Given the description of an element on the screen output the (x, y) to click on. 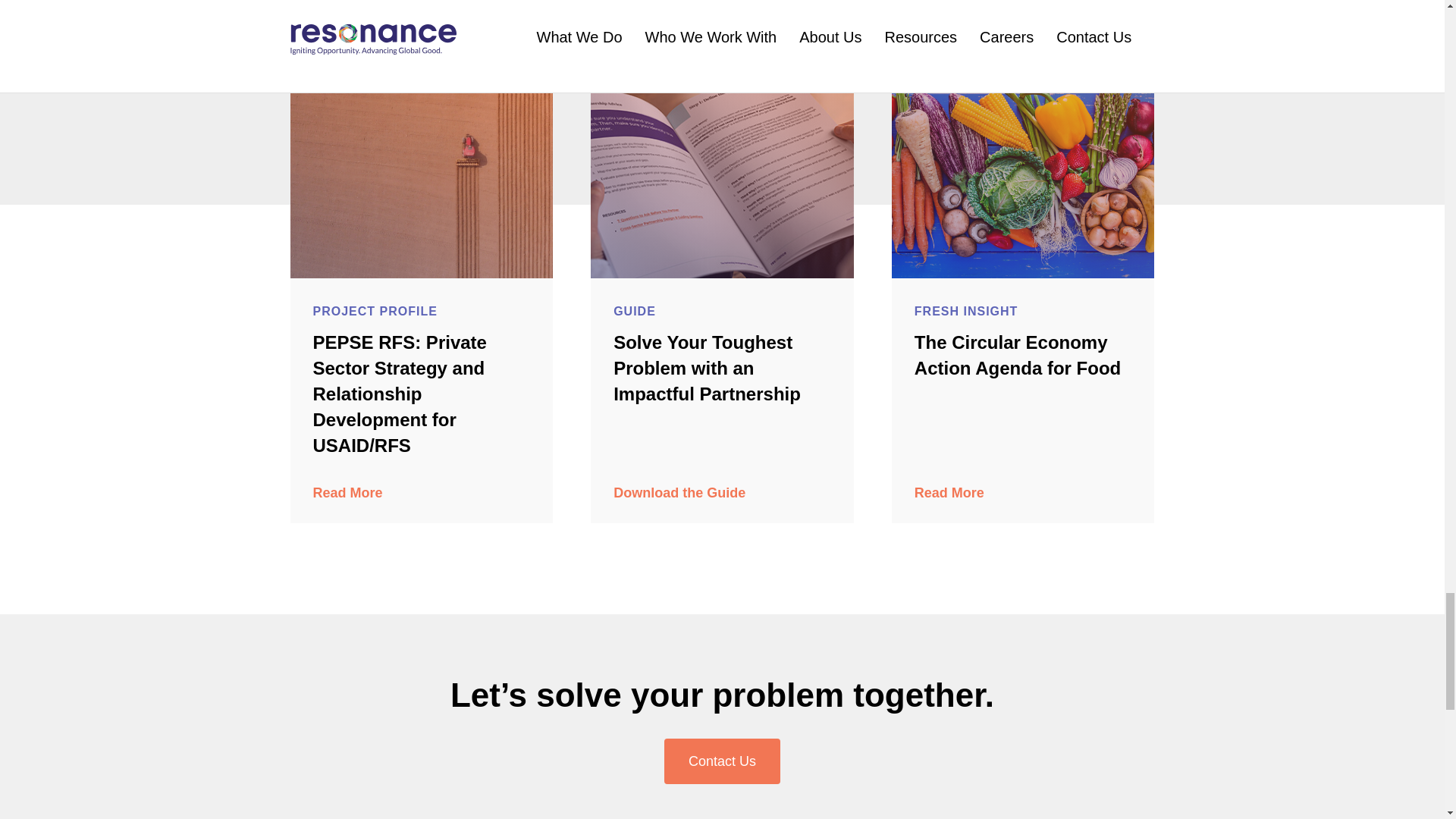
Contact Us (721, 760)
